Given the description of an element on the screen output the (x, y) to click on. 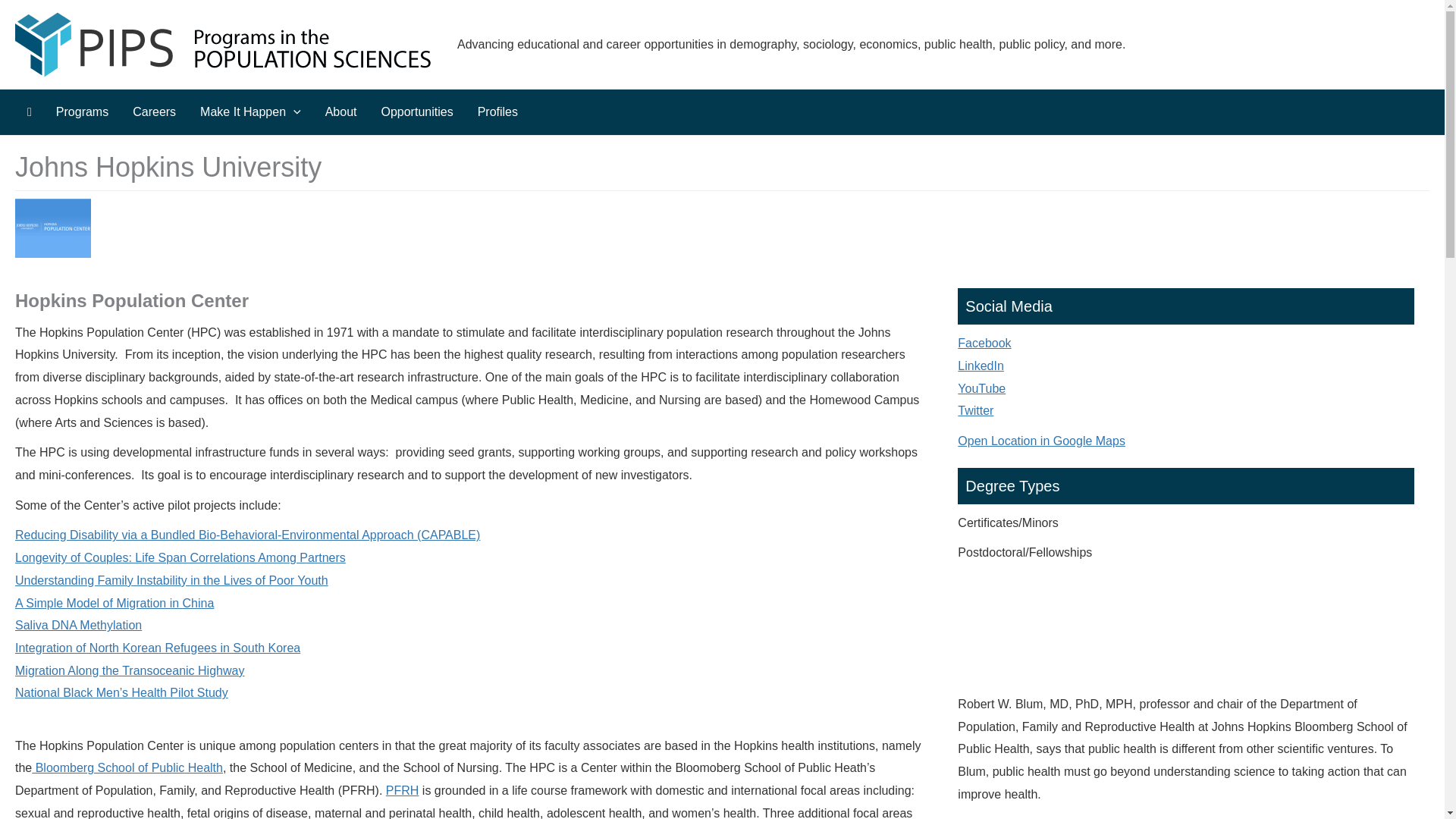
Profiles (497, 112)
Migration Along the Transoceanic Highway (129, 670)
Careers (153, 112)
PFRH (402, 789)
Saliva DNA Methylation (77, 625)
Make It Happen (250, 112)
Longevity of Couples: Life Span Correlations Among Partners (180, 557)
Understanding Family Instability in the Lives of Poor Youth (171, 580)
About (341, 112)
Opportunities (416, 112)
A Simple Model of Migration in China (114, 603)
 Bloomberg School of Public Health (127, 767)
Programs (81, 112)
Integration of North Korean Refugees in South Korea (156, 647)
